Given the description of an element on the screen output the (x, y) to click on. 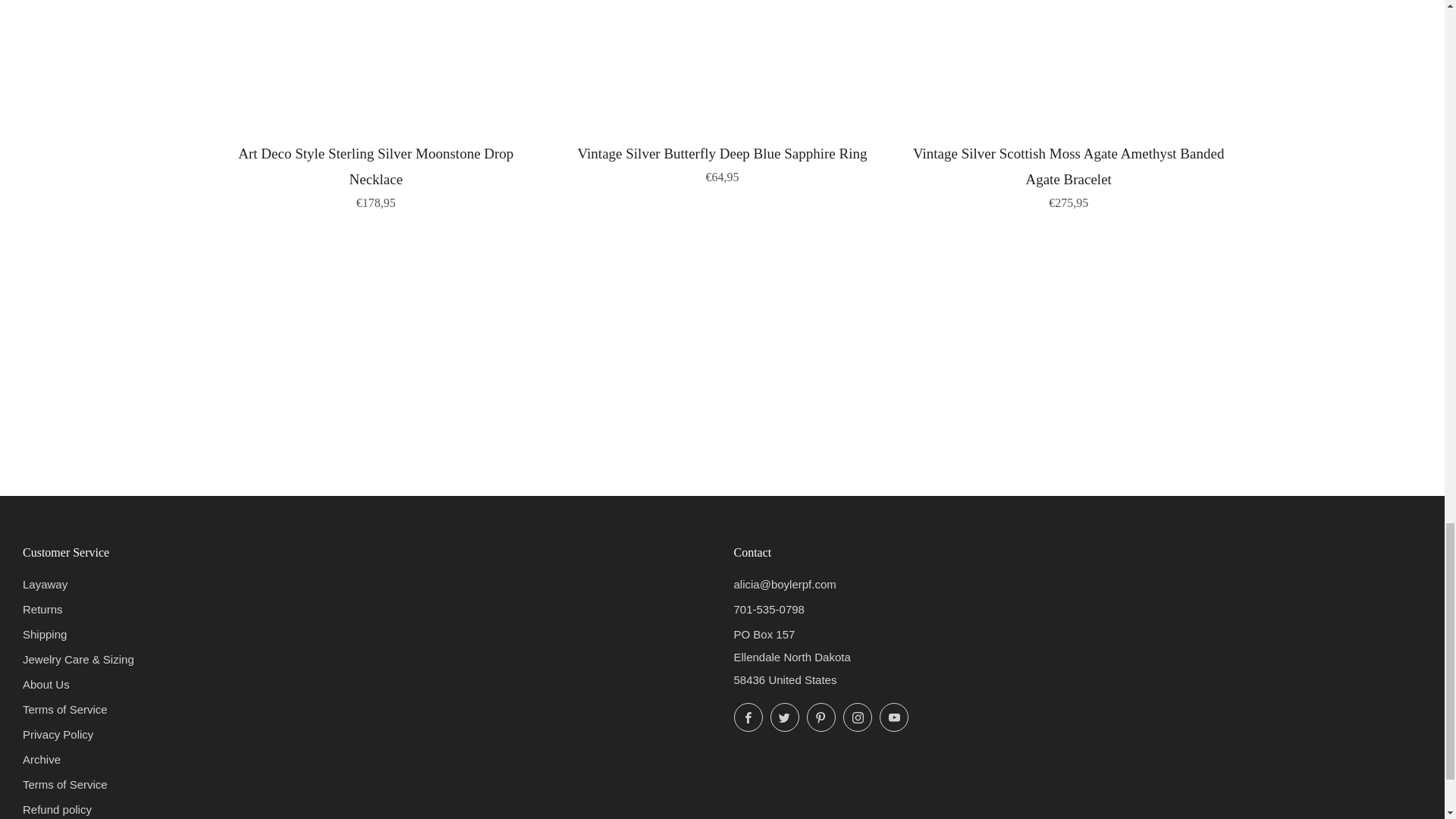
Art Deco Style Sterling Silver Moonstone Drop Necklace (376, 174)
Vintage Silver Butterfly Deep Blue Sapphire Ring (721, 161)
